Given the description of an element on the screen output the (x, y) to click on. 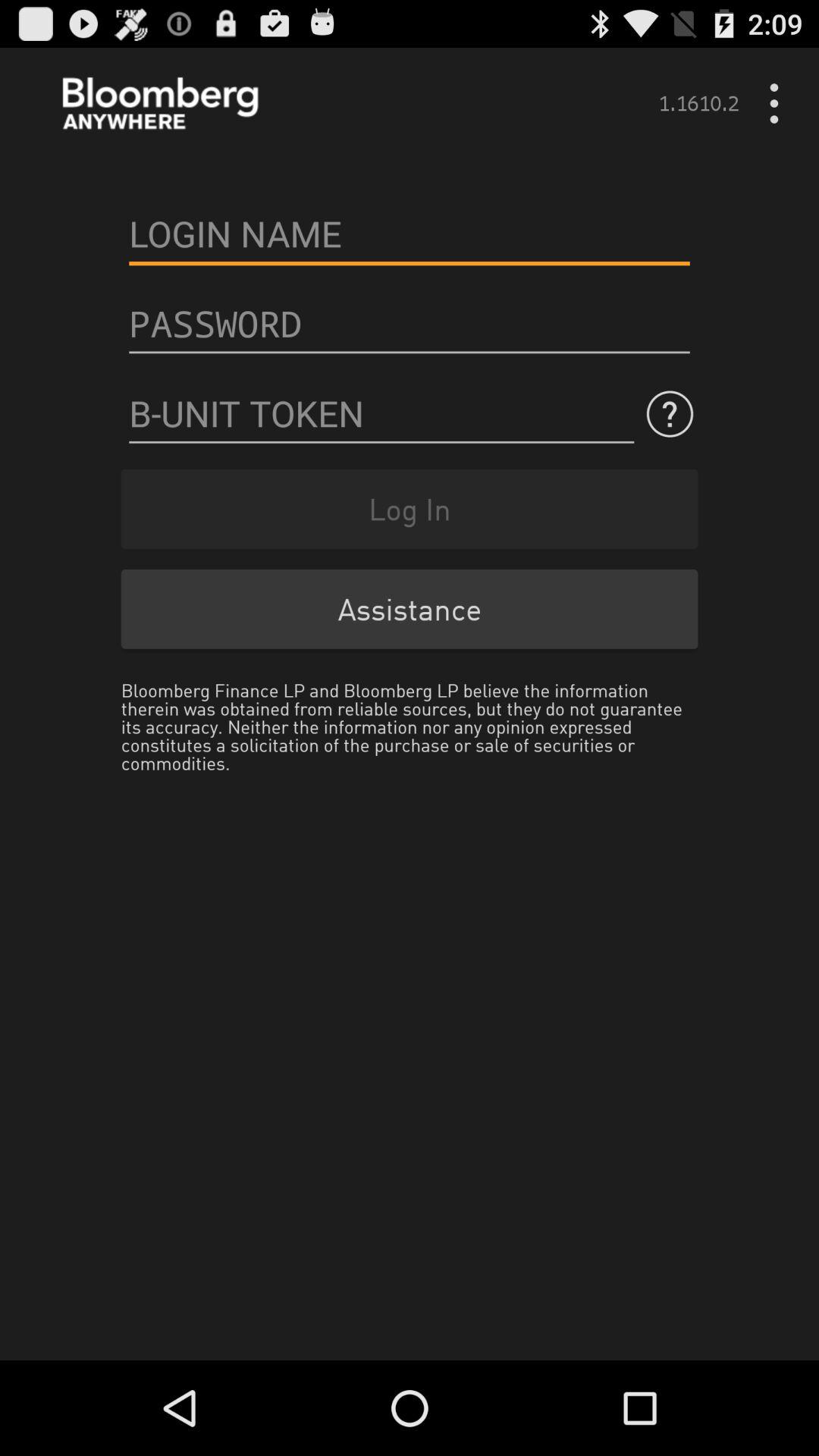
select the item below log in item (409, 608)
